Given the description of an element on the screen output the (x, y) to click on. 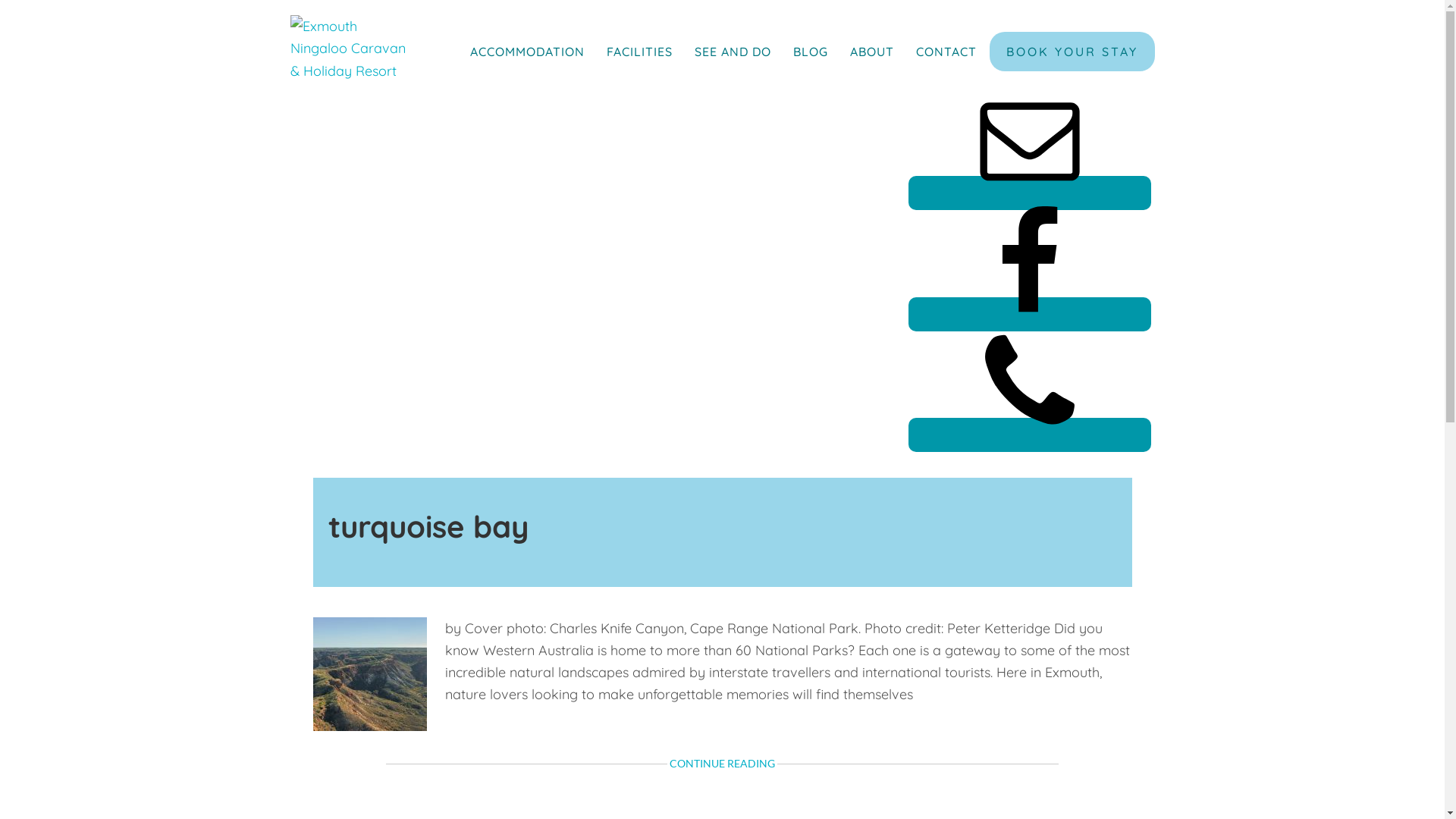
ACCOMMODATION Element type: text (527, 51)
Phone Element type: text (1029, 434)
SEE AND DO Element type: text (732, 51)
Skip to primary navigation Element type: text (0, 0)
BLOG Element type: text (810, 51)
ABOUT Element type: text (871, 51)
Facebook Element type: text (1029, 314)
FACILITIES Element type: text (639, 51)
BOOK YOUR STAY Element type: text (1071, 51)
CONTACT Element type: text (945, 51)
Email Element type: text (1029, 192)
